Given the description of an element on the screen output the (x, y) to click on. 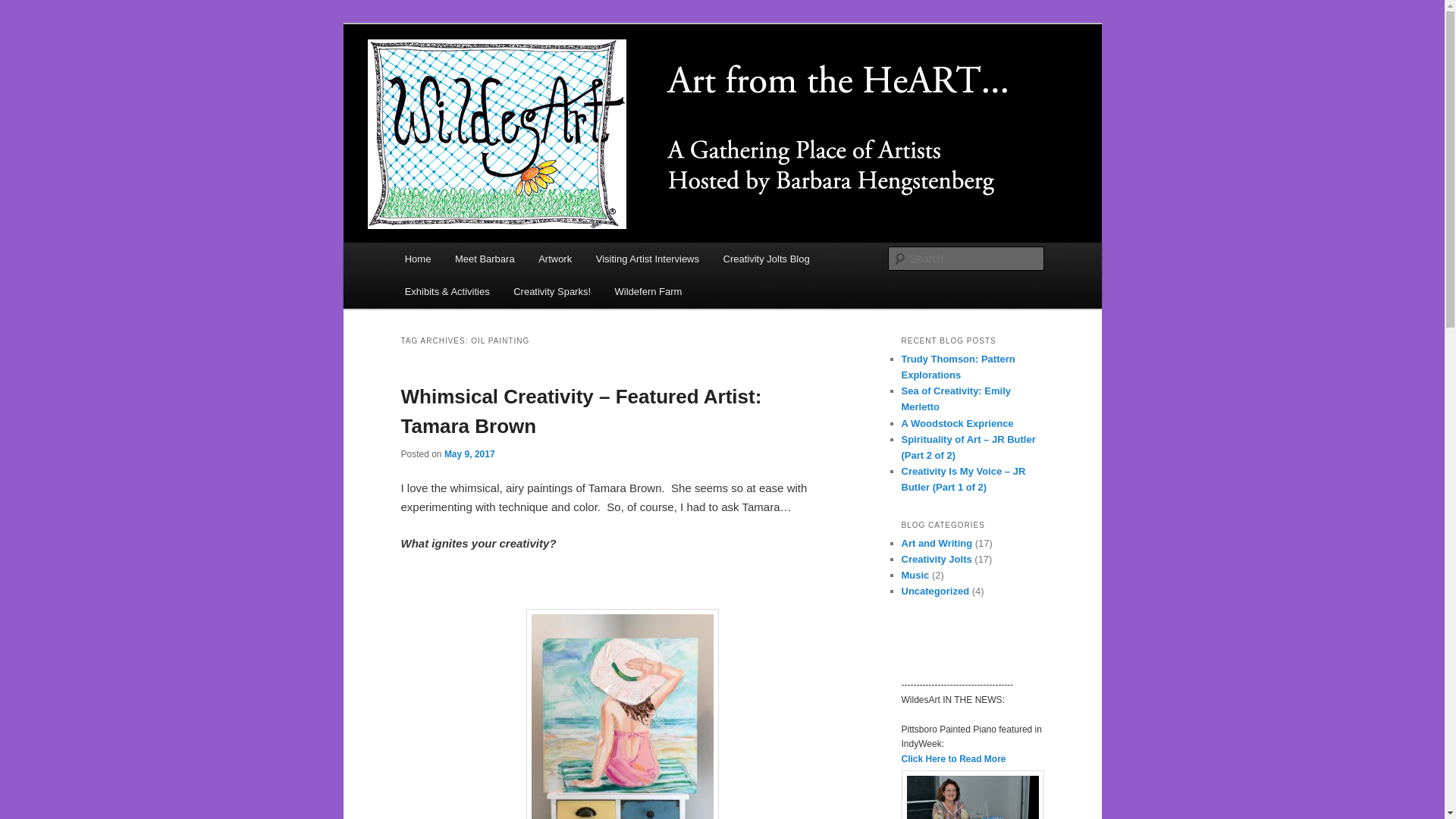
Home (417, 258)
Visiting Artist Interviews (647, 258)
Search (24, 8)
12:45 pm (469, 453)
WildesArt (453, 78)
May 9, 2017 (469, 453)
Artwork (554, 258)
Creativity Jolts Blog (766, 258)
Creativity Sparks! (551, 291)
